Given the description of an element on the screen output the (x, y) to click on. 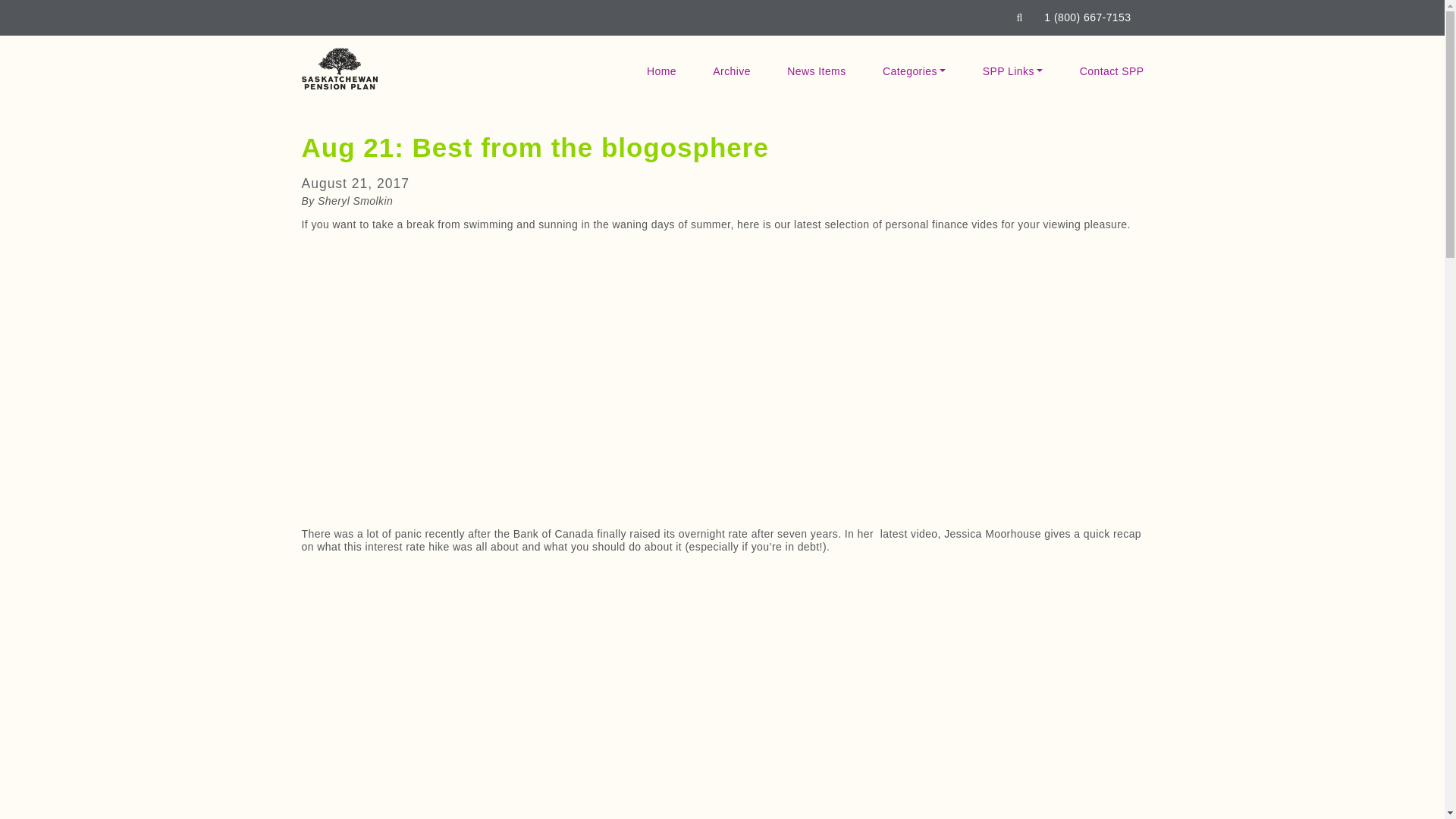
SPP Links (1013, 71)
News Items (816, 71)
Archive (731, 71)
Contact SPP (1111, 71)
Categories (914, 71)
Home (661, 71)
